Given the description of an element on the screen output the (x, y) to click on. 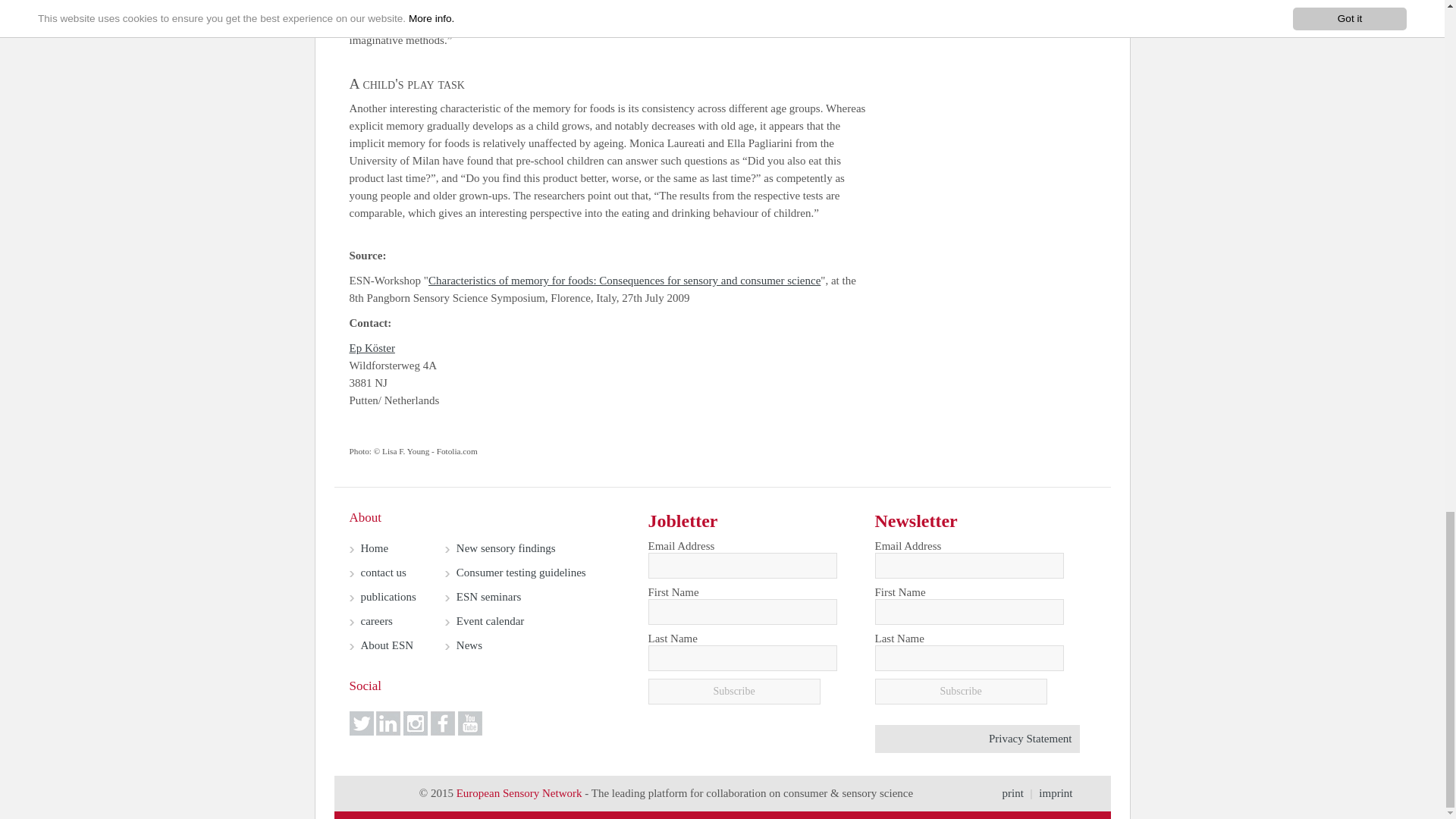
Subscribe (733, 691)
Opens internal link in current window (624, 280)
Opens internal link in current window (383, 572)
Opens internal link in current window (388, 596)
Opens window for sending email (371, 347)
Subscribe (960, 691)
Opens internal link in current window (377, 621)
Opens internal link in current window (374, 548)
